Given the description of an element on the screen output the (x, y) to click on. 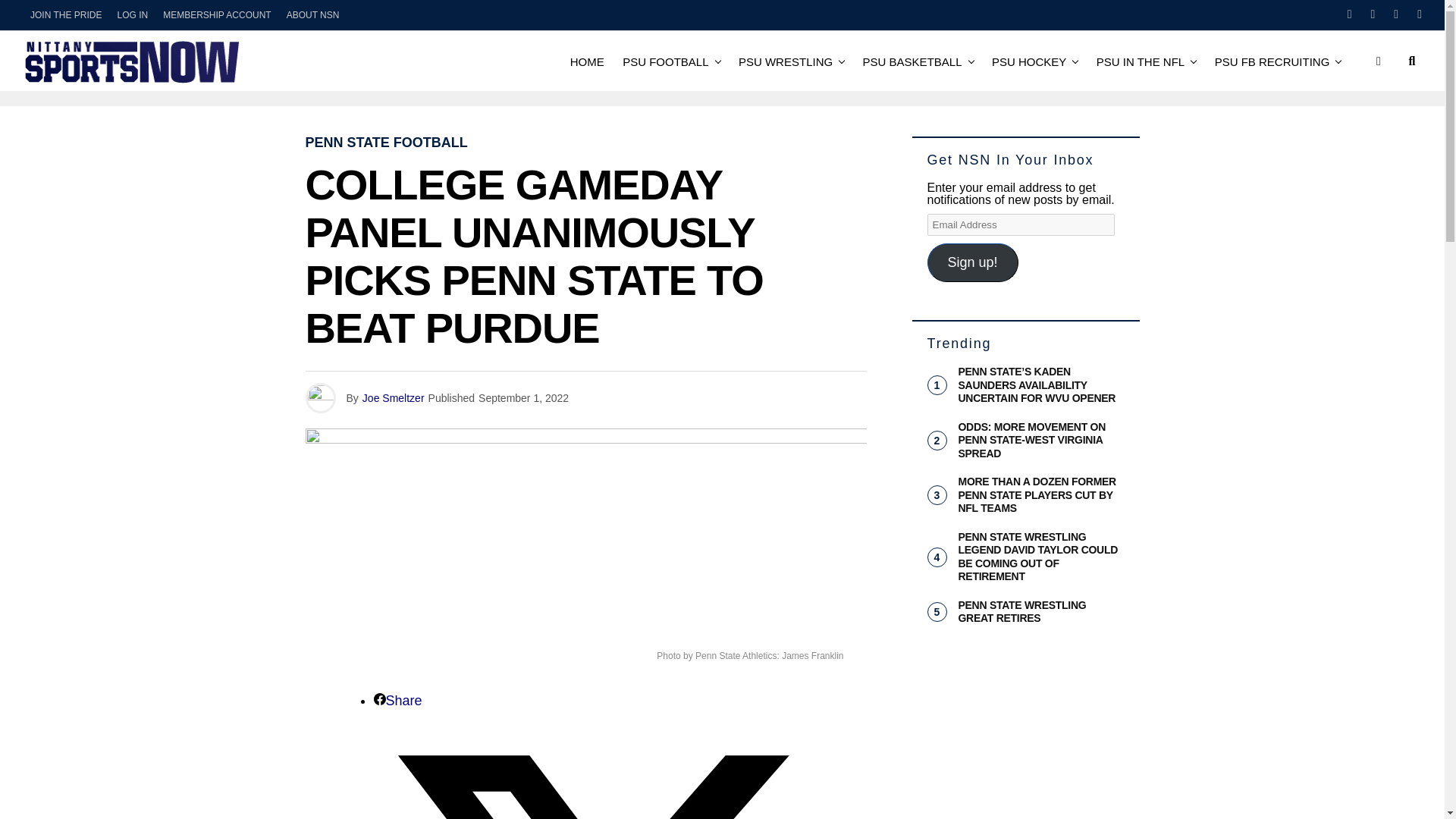
Share on Share (397, 700)
MEMBERSHIP ACCOUNT (216, 15)
ABOUT NSN (313, 15)
Posts by Joe Smeltzer (393, 398)
LOG IN (132, 15)
JOIN THE PRIDE (66, 15)
PSU WRESTLING (785, 61)
PSU FOOTBALL (665, 61)
